Given the description of an element on the screen output the (x, y) to click on. 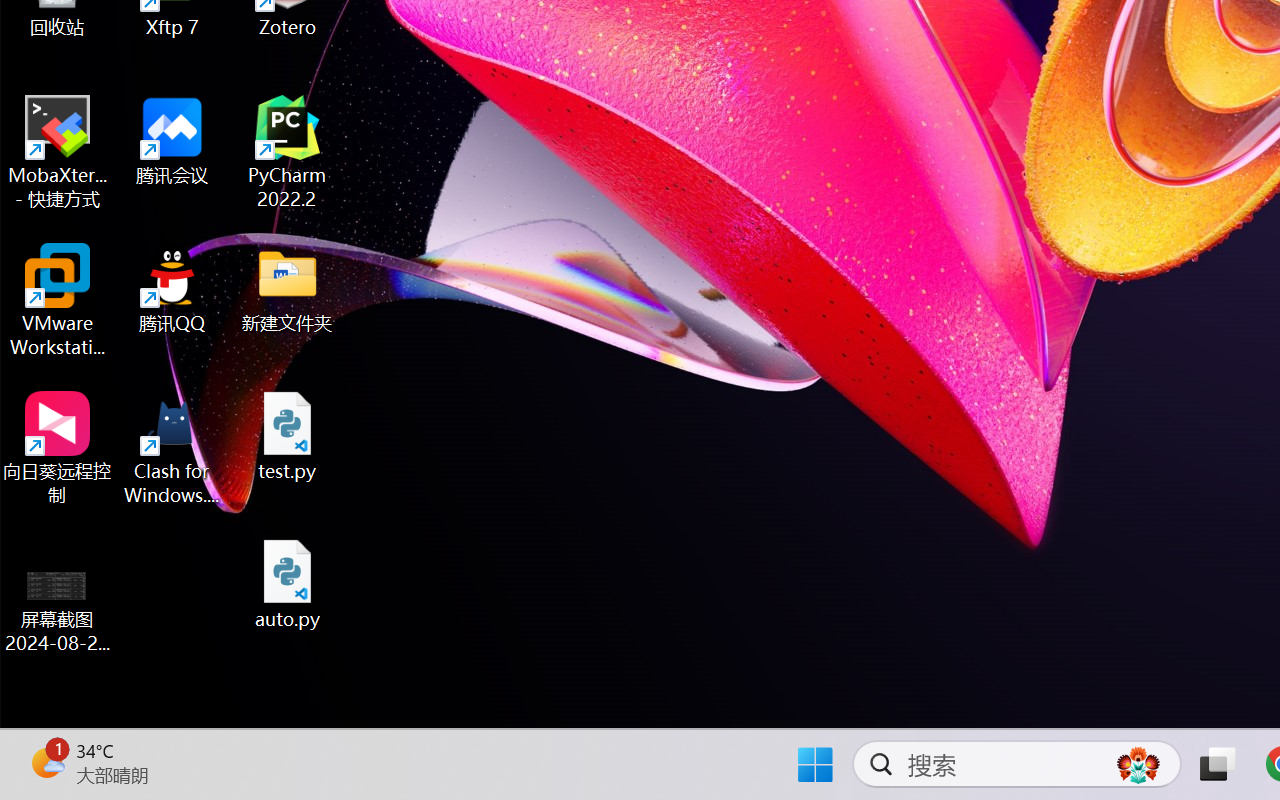
auto.py (287, 584)
